Given the description of an element on the screen output the (x, y) to click on. 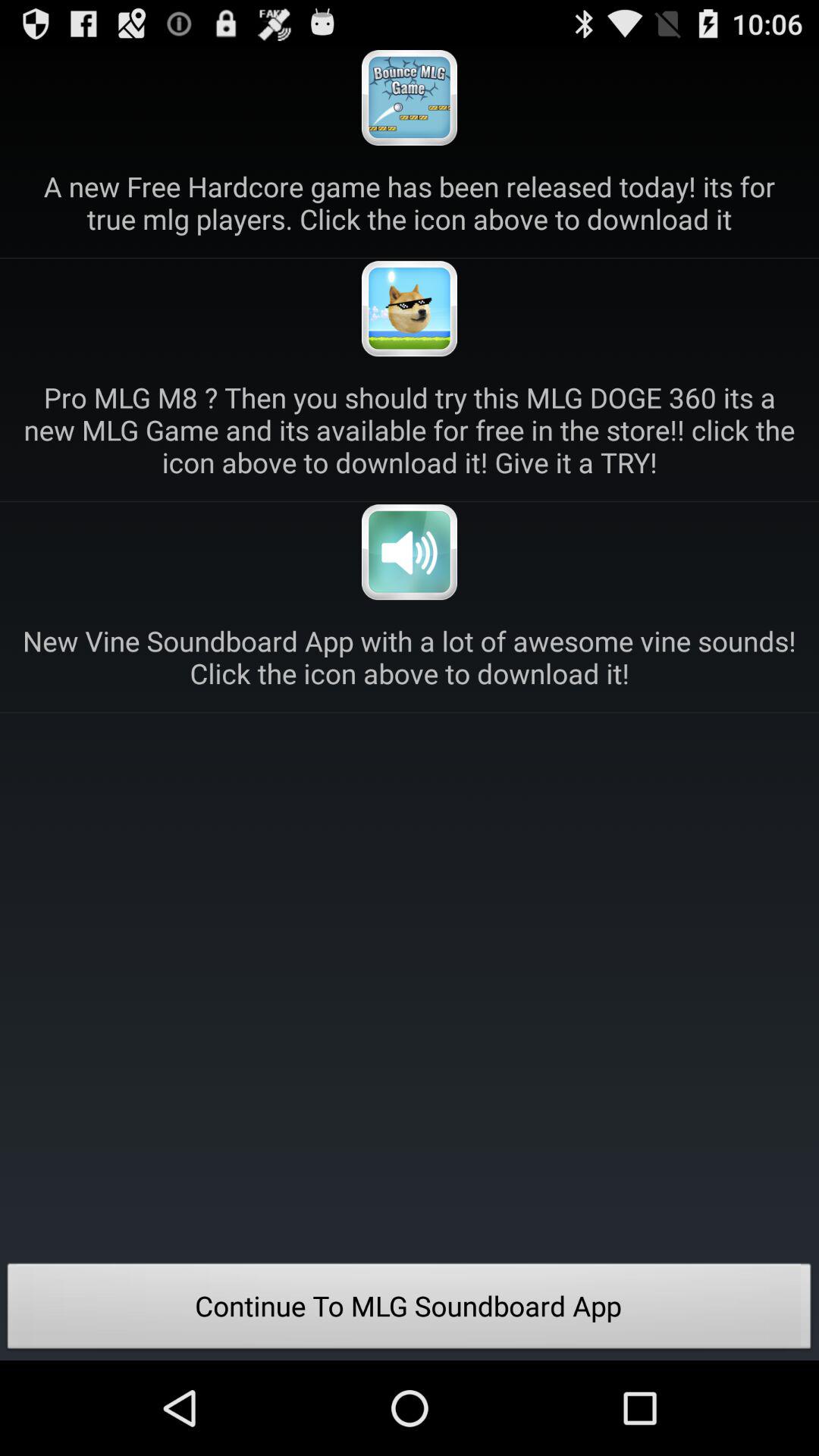
link to download app (409, 552)
